Given the description of an element on the screen output the (x, y) to click on. 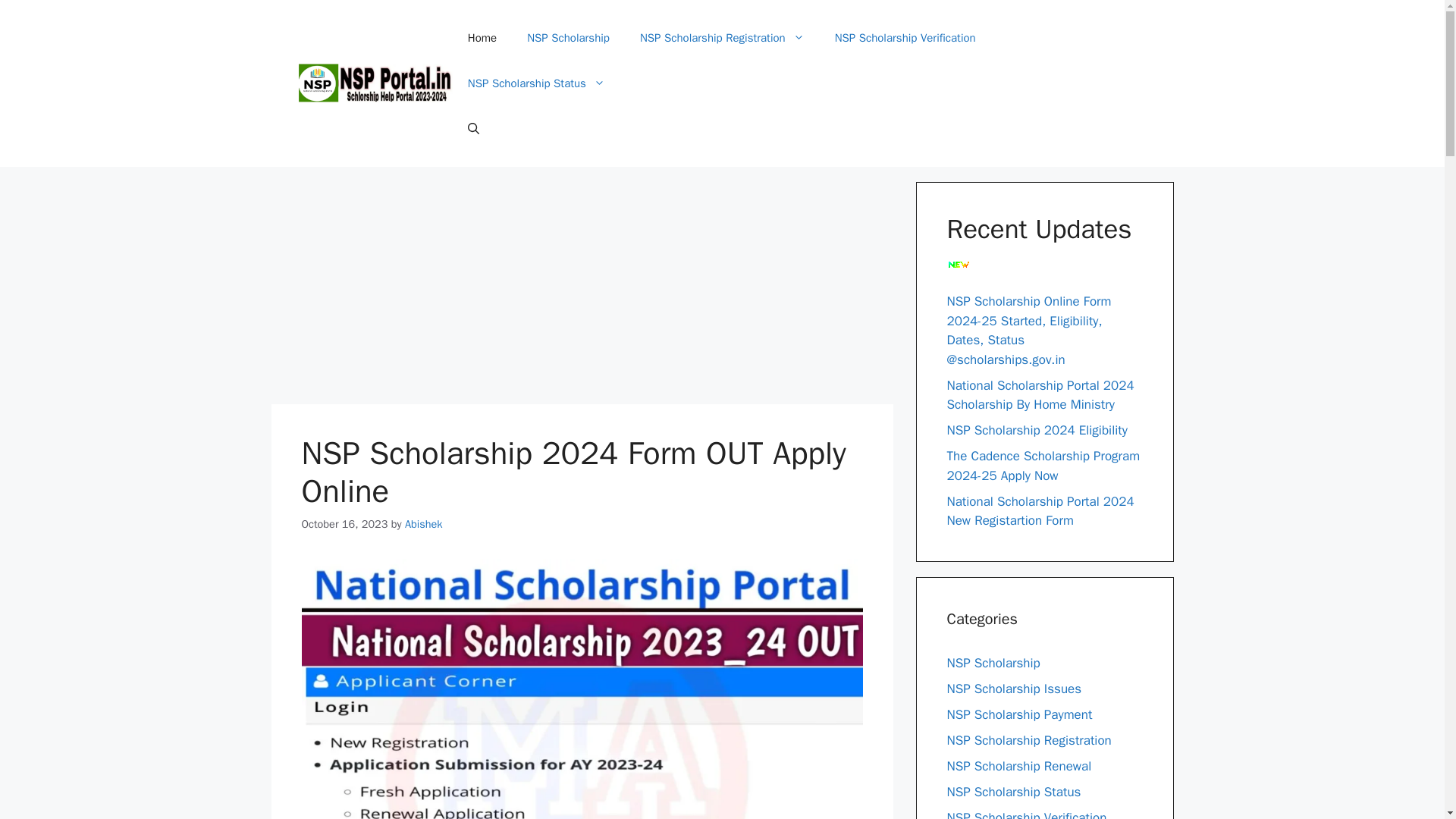
NSP Scholarship 2024 Eligibility (1036, 430)
NSP Scholarship Verification (905, 37)
National Scholarship Portal 2024 New Registartion Form (1040, 510)
NSP Scholarship (568, 37)
Abishek (423, 523)
NSP Scholarship Issues (1013, 688)
Home (482, 37)
NSP Scholarship Registration (721, 37)
